Given the description of an element on the screen output the (x, y) to click on. 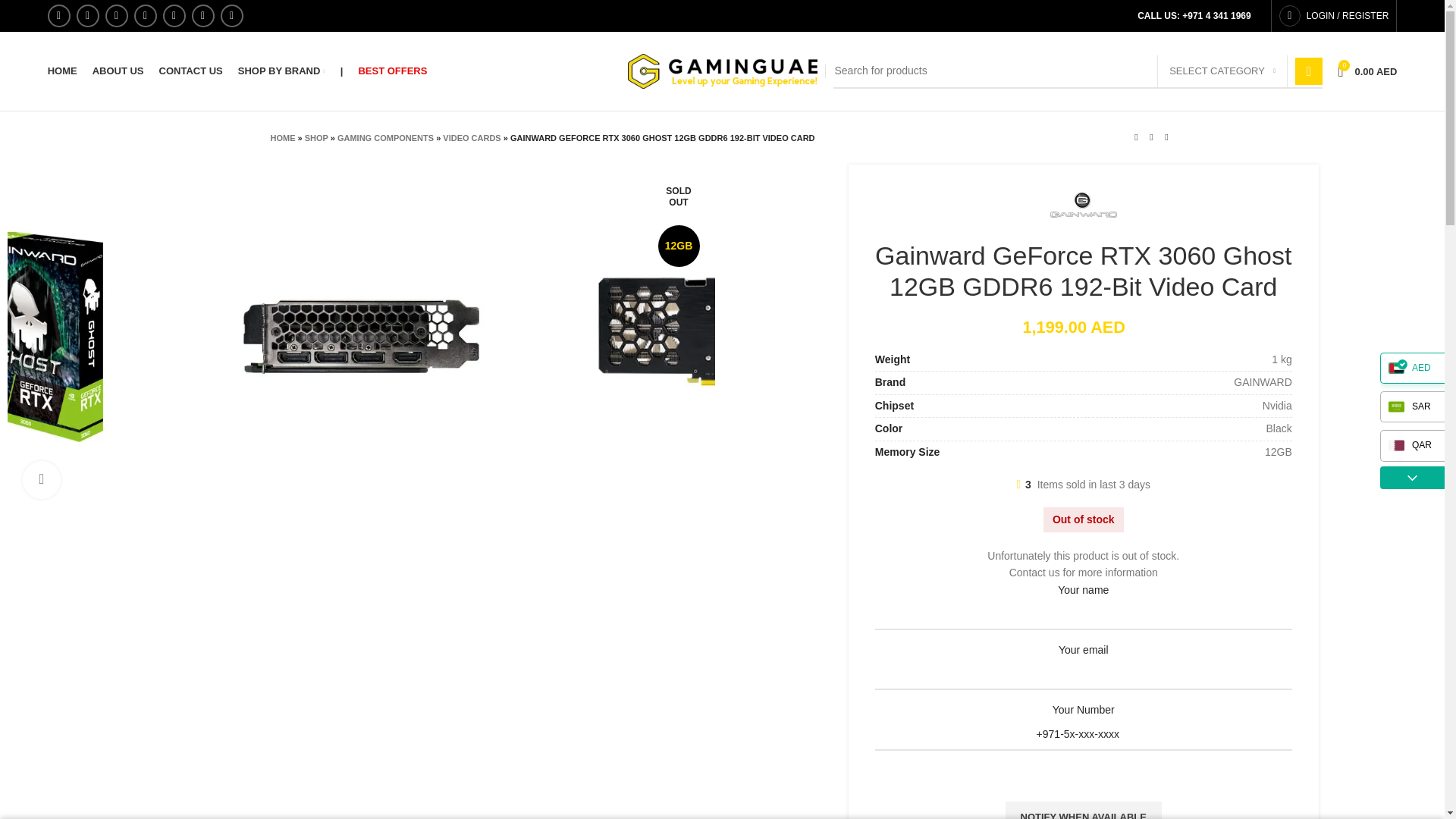
Search for products (1077, 71)
Log in (1263, 264)
SELECT CATEGORY (1222, 70)
NE63060019K9-190AU-LHR-1 (1352, 181)
NE63060019K9-190AU-LHR-4 (360, 337)
NE63060019K9-190AU-LHR-3 (713, 337)
Notify When Available (1083, 810)
HOME (62, 71)
BEST OFFERS (392, 71)
CONTACT US (190, 71)
